Given the description of an element on the screen output the (x, y) to click on. 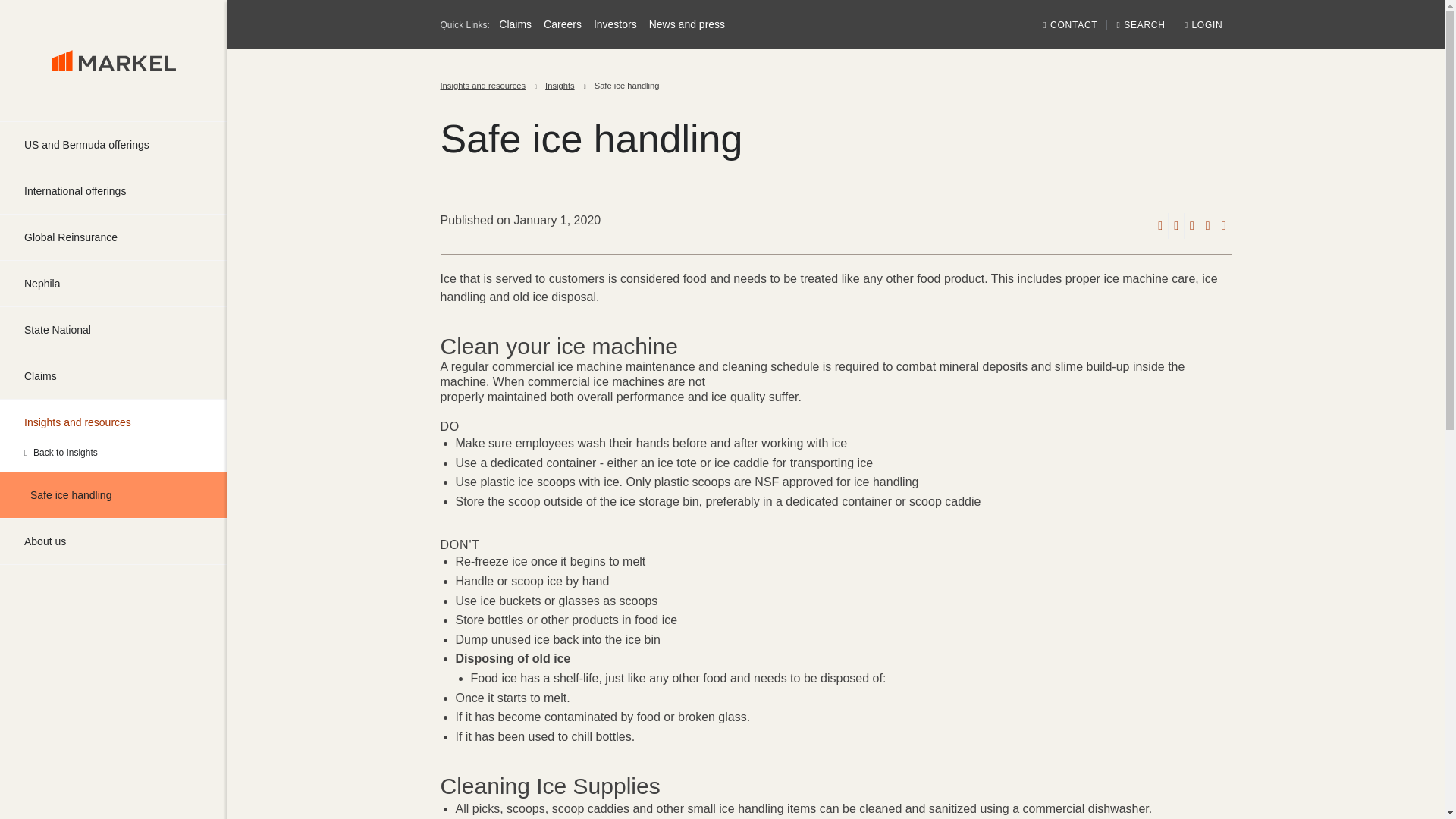
Global Reinsurance (113, 237)
Claims (113, 375)
International offerings (113, 190)
US and Bermuda offerings (113, 144)
Nephila (113, 283)
State National (113, 329)
Insights and resources (113, 422)
Claims (113, 375)
US and Bermuda offerings (113, 144)
Global Reinsurance (113, 237)
